Given the description of an element on the screen output the (x, y) to click on. 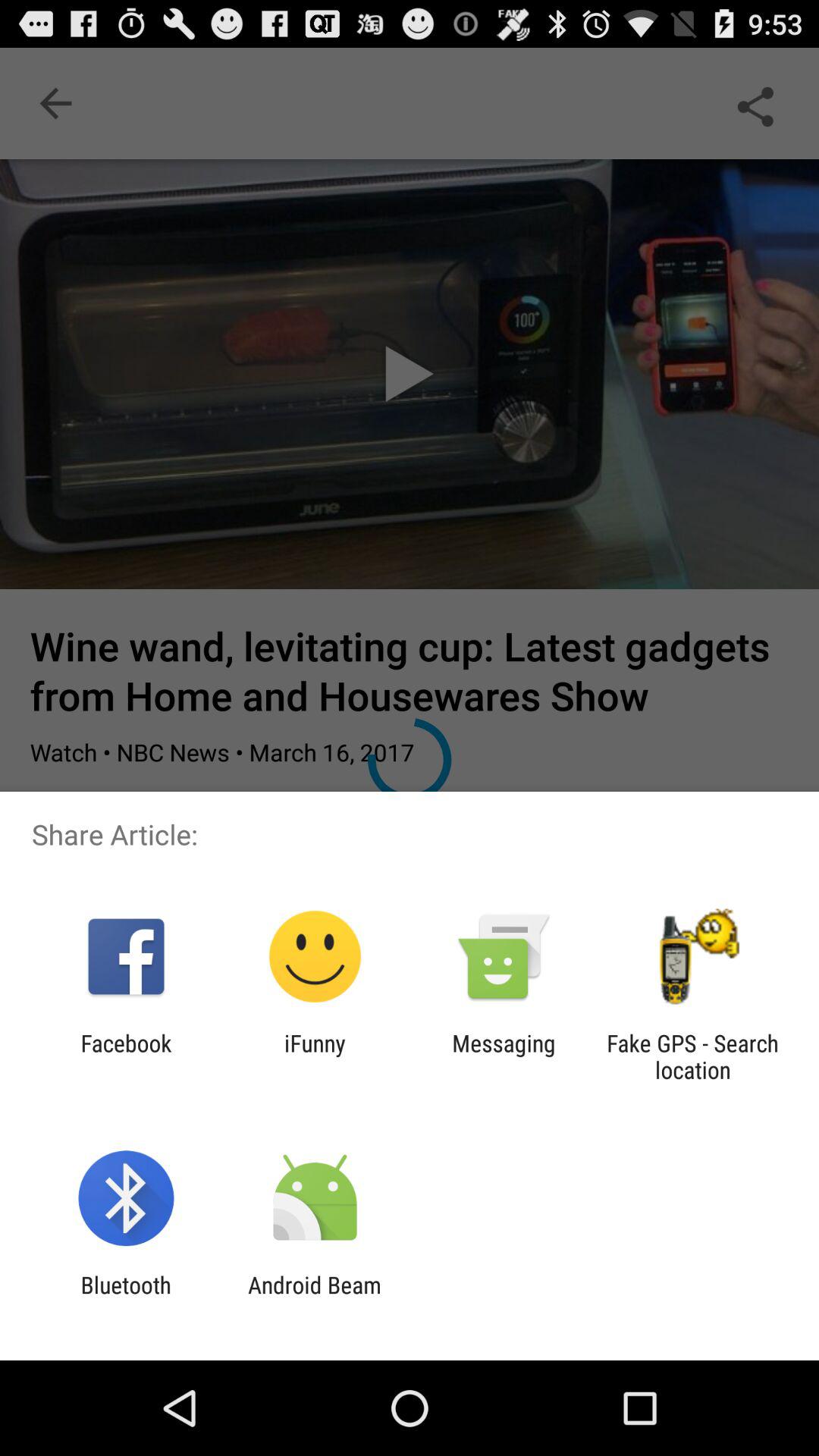
press item next to the messaging (314, 1056)
